Given the description of an element on the screen output the (x, y) to click on. 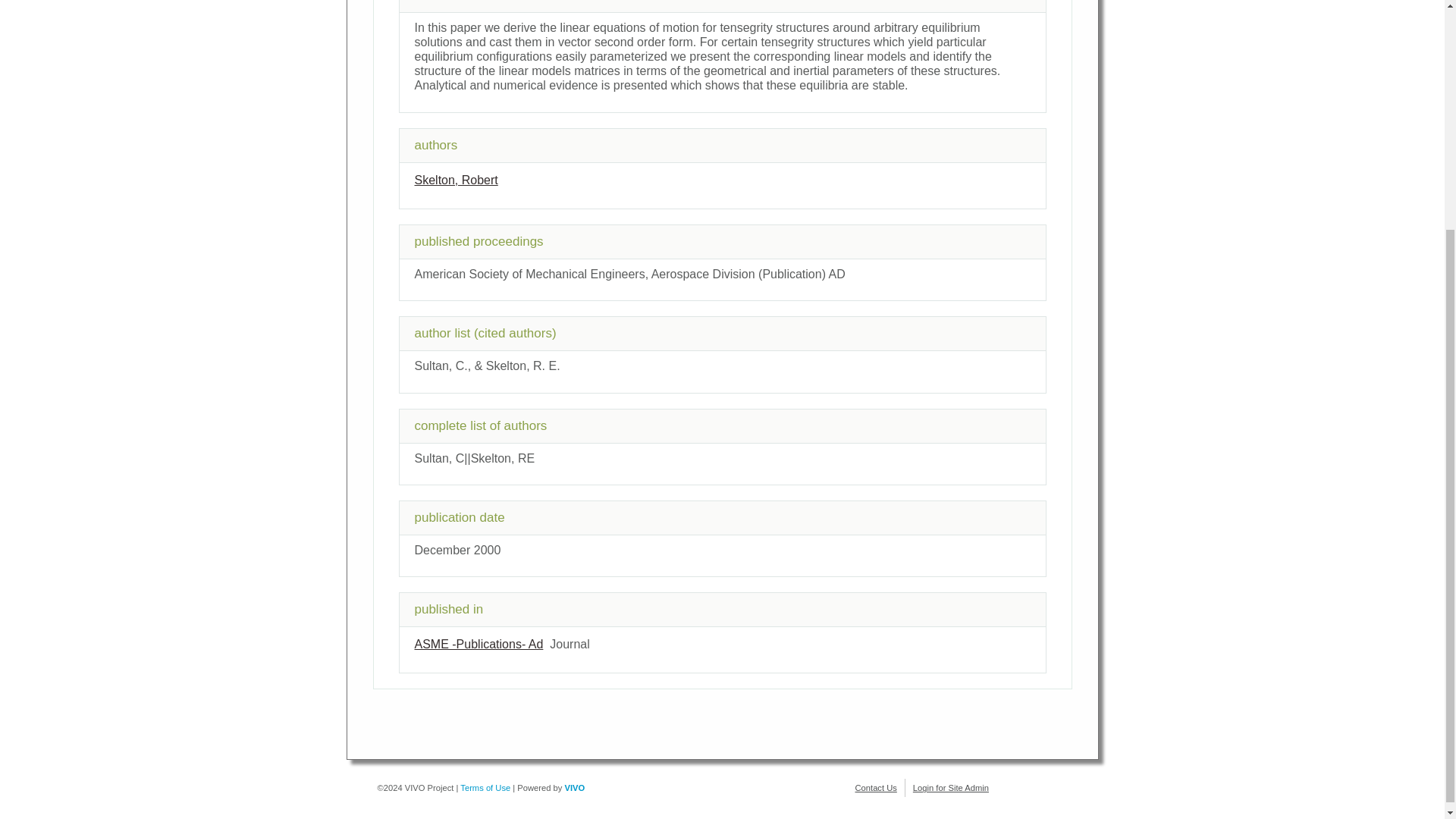
VIVO (574, 787)
name (478, 644)
Login for Site Admin (950, 787)
Skelton, Robert (455, 179)
Contact Us (876, 787)
author name (455, 179)
ASME -Publications- Ad (478, 644)
Terms of Use (485, 787)
